Given the description of an element on the screen output the (x, y) to click on. 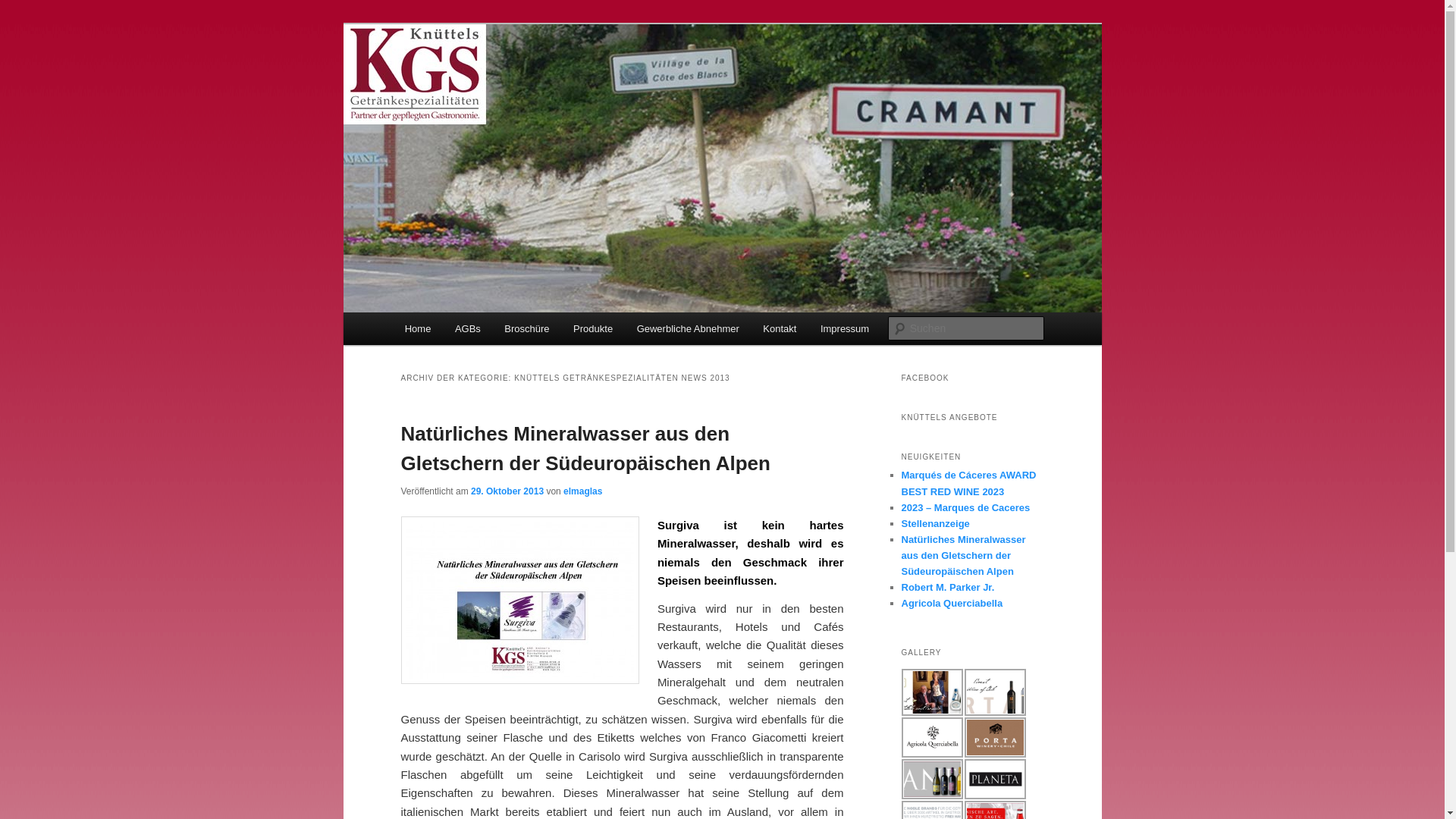
AGBs Element type: text (467, 328)
Robert M. Parker Jr. Element type: text (947, 587)
Suchen Element type: text (25, 8)
carpene-malvolti_01_0 Element type: hover (931, 691)
planeta Element type: hover (931, 779)
Agricola Querciabella Element type: text (951, 602)
planeta_nero Element type: hover (995, 779)
29. Oktober 2013 Element type: text (506, 490)
elmaglas Element type: text (582, 490)
porta Element type: hover (995, 691)
Home Element type: text (417, 328)
Impressum Element type: text (844, 328)
Zum Inhalt wechseln Element type: text (22, 22)
Stellenanzeige Element type: text (934, 523)
porta Element type: hover (995, 737)
Kontakt Element type: text (780, 328)
Empfehlung des Hauses Element type: hover (519, 600)
KGS Element type: text (424, 78)
agricola-querciabella Element type: hover (931, 737)
Gewerbliche Abnehmer Element type: text (687, 328)
Produkte Element type: text (592, 328)
